Given the description of an element on the screen output the (x, y) to click on. 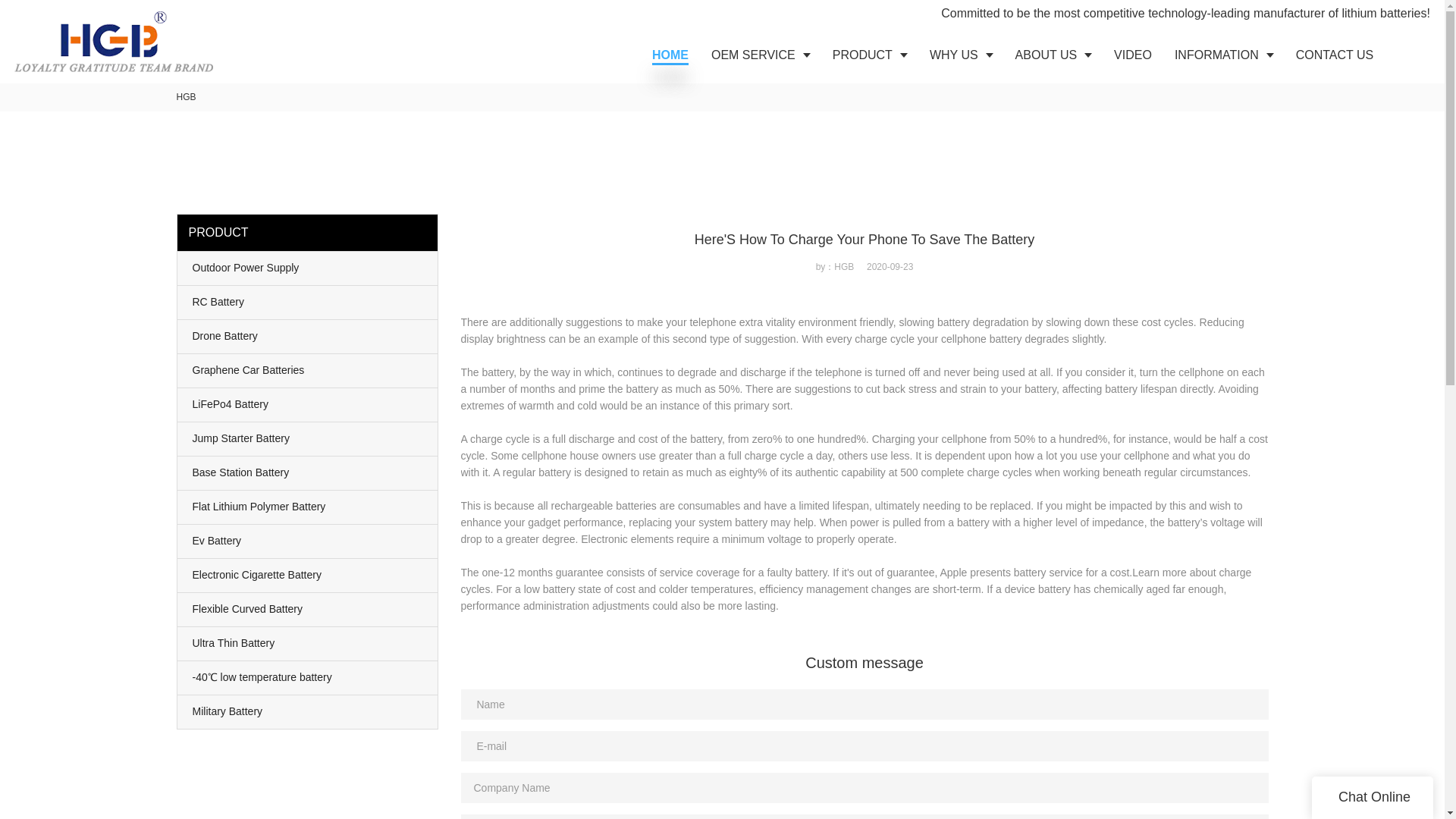
HOME (670, 55)
WHY US (961, 55)
VIDEO (1132, 55)
CONTACT US (1335, 55)
INFORMATION (1223, 55)
PRODUCT (869, 55)
OEM SERVICE (760, 55)
HGB (185, 96)
ABOUT US (1053, 55)
